Given the description of an element on the screen output the (x, y) to click on. 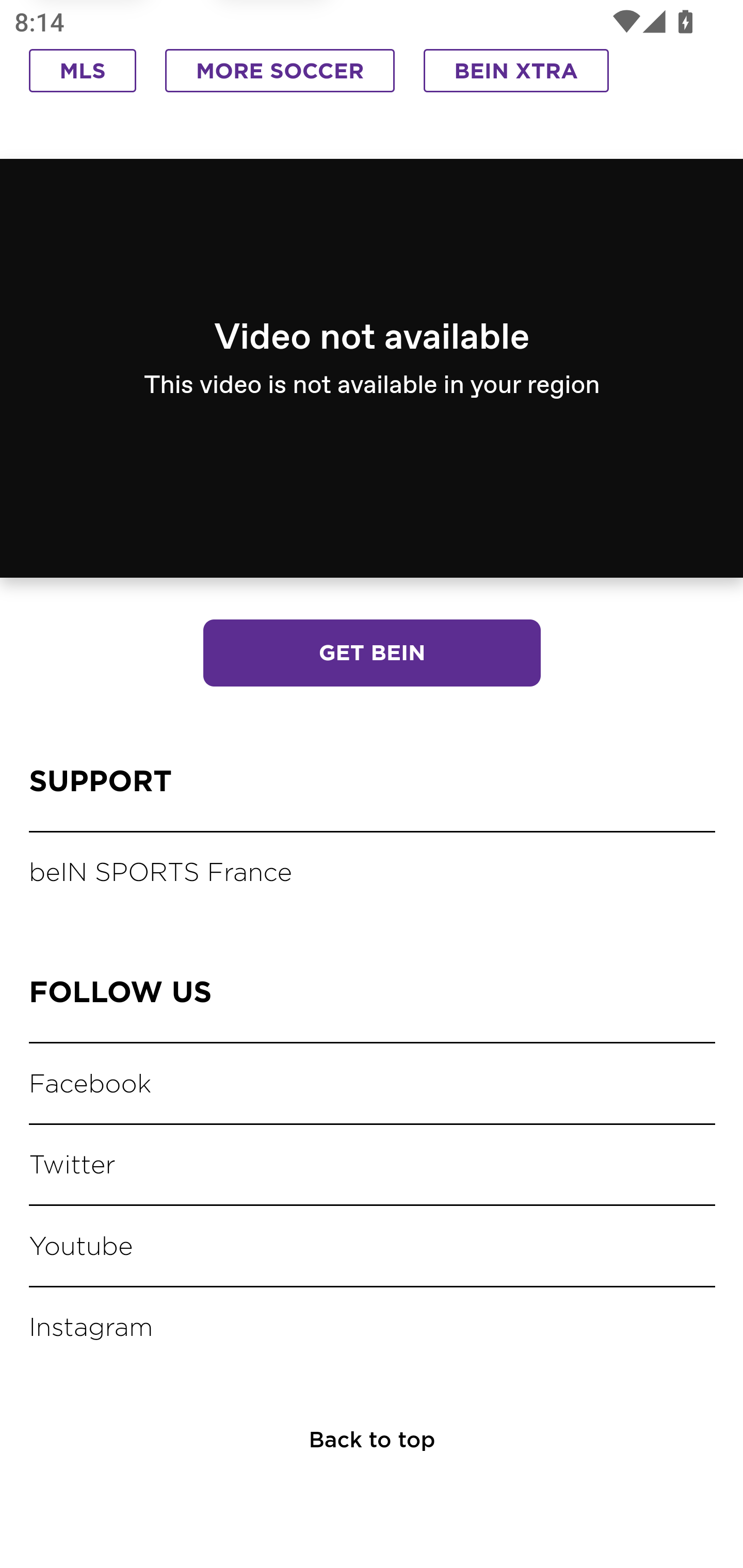
MLS (82, 72)
MORE SOCCER (279, 72)
BEIN XTRA (516, 72)
United States (430, 359)
GET BEIN (371, 654)
beIN SPORTS France (162, 874)
Facebook (92, 1083)
Twitter (74, 1165)
Youtube (82, 1246)
Instagram (93, 1328)
